Given the description of an element on the screen output the (x, y) to click on. 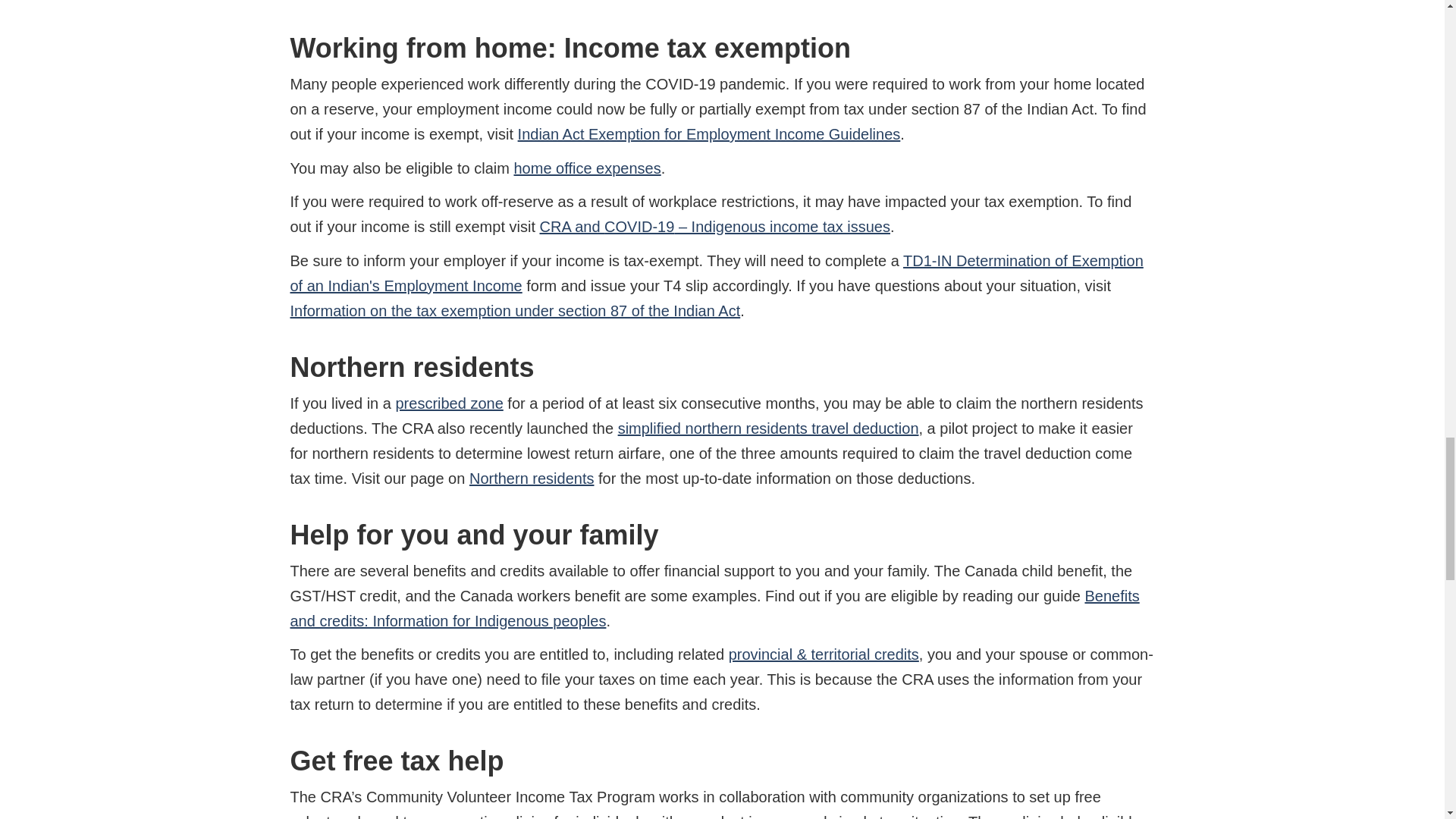
Indian Act Exemption for Employment Income Guidelines (709, 134)
home office expenses (587, 167)
